Given the description of an element on the screen output the (x, y) to click on. 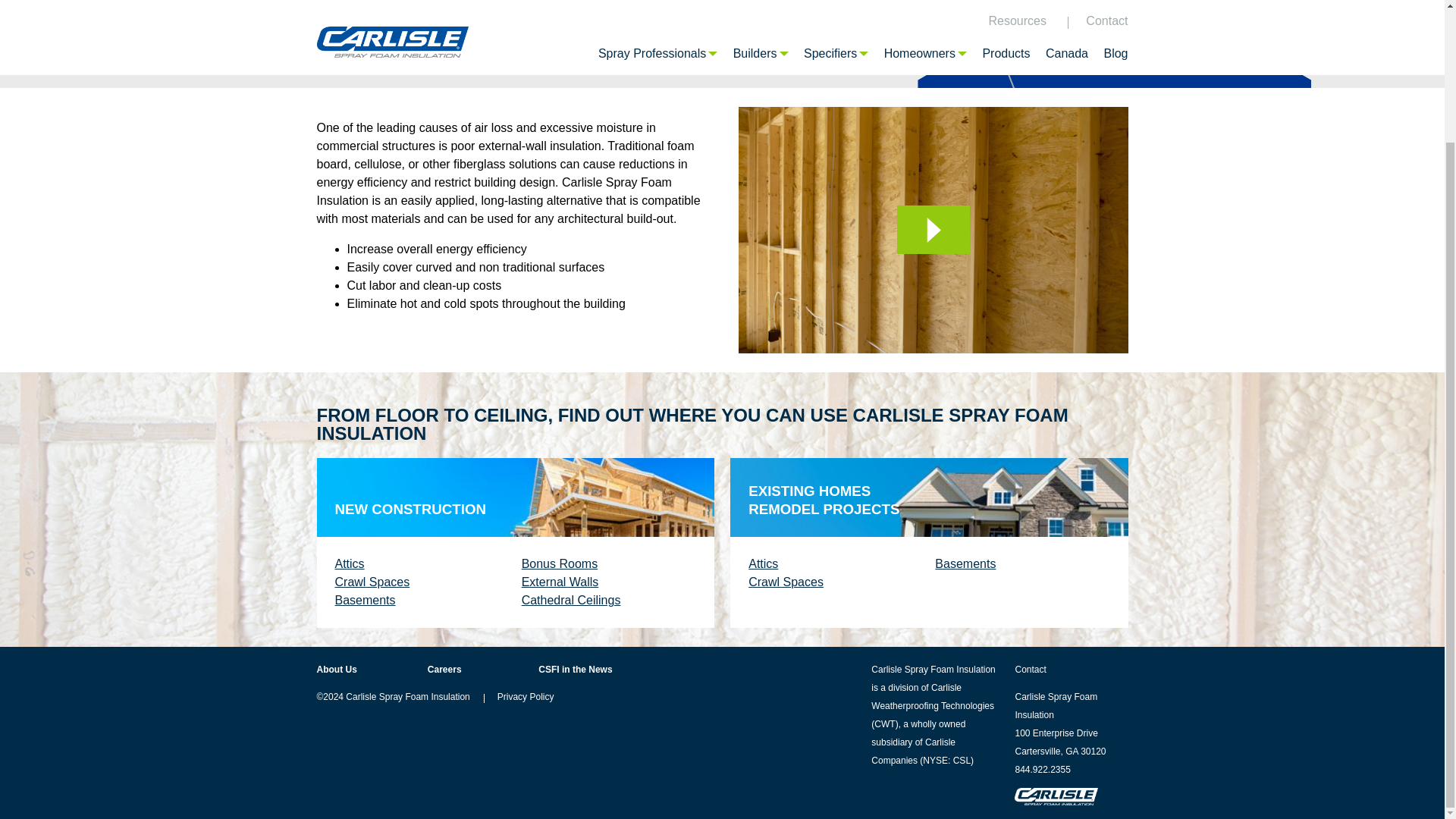
Cathedral Ceilings (571, 599)
External Walls (559, 581)
Contact (1029, 669)
Privacy Policy (525, 696)
Carlisle Companies (912, 751)
Crawl Spaces (372, 581)
Bonus Rooms (559, 563)
Attics (349, 563)
Careers (444, 669)
Basements (365, 599)
Attics (762, 563)
CSFI in the News (574, 669)
Crawl Spaces (786, 581)
Basements (964, 563)
About Us (336, 669)
